Given the description of an element on the screen output the (x, y) to click on. 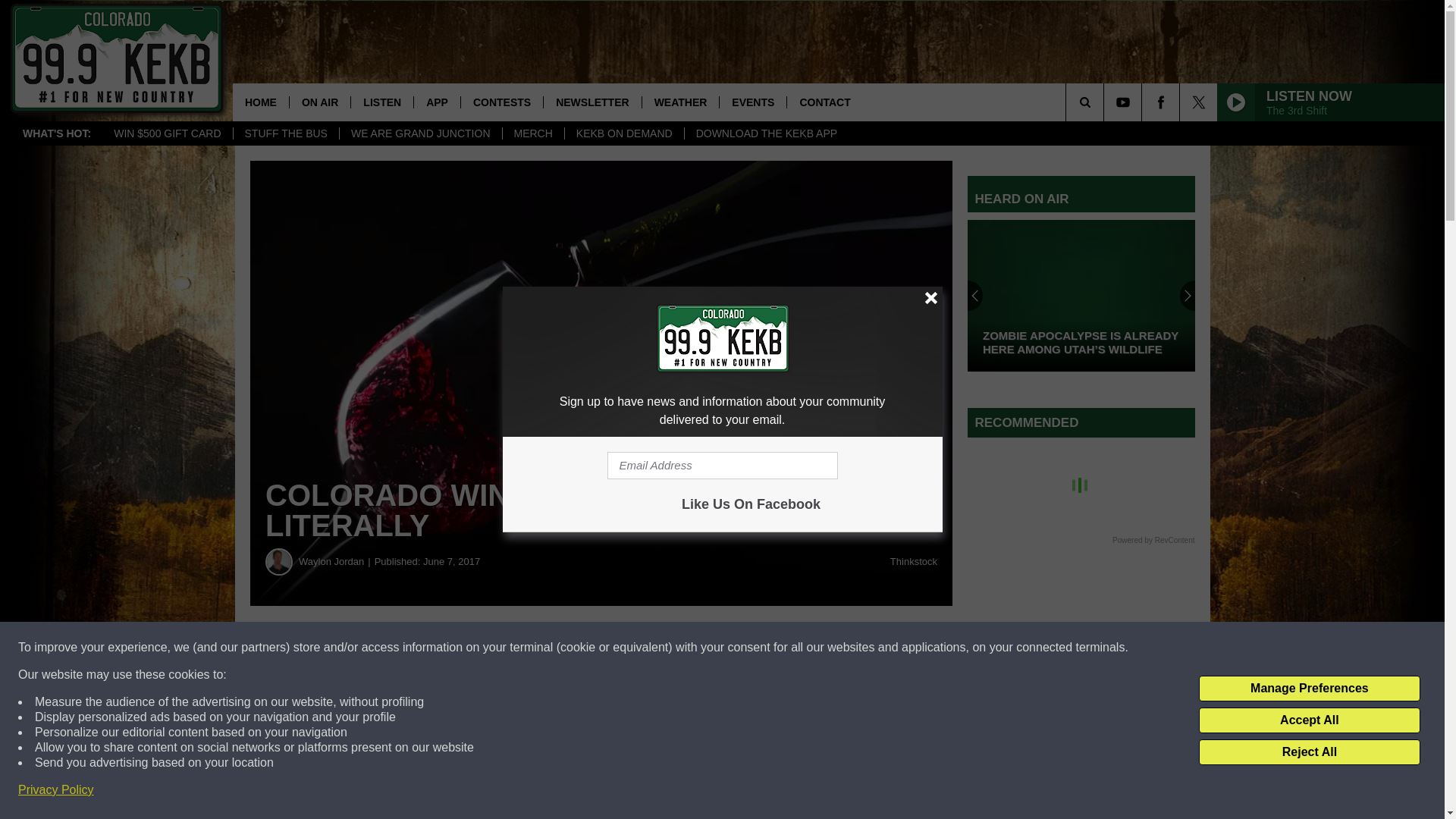
LISTEN (381, 102)
WHAT'S HOT: (56, 133)
Share on Facebook (460, 647)
Email Address (722, 465)
APP (436, 102)
WE ARE GRAND JUNCTION (420, 133)
Reject All (1309, 751)
SEARCH (1106, 102)
MERCH (533, 133)
HOME (260, 102)
Manage Preferences (1309, 688)
CONTESTS (501, 102)
ON AIR (319, 102)
Share on Twitter (741, 647)
Privacy Policy (55, 789)
